Given the description of an element on the screen output the (x, y) to click on. 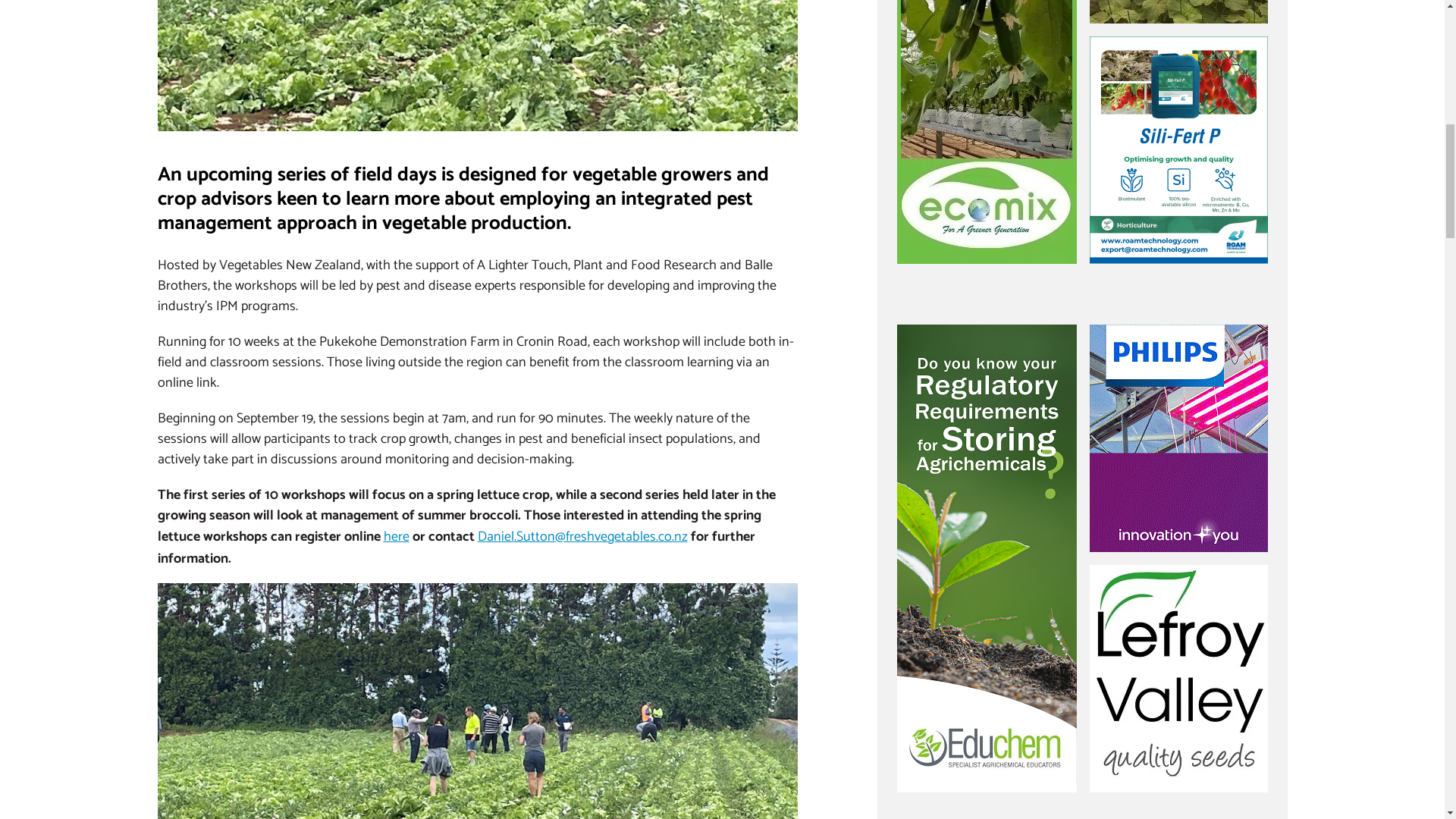
here (396, 535)
